Given the description of an element on the screen output the (x, y) to click on. 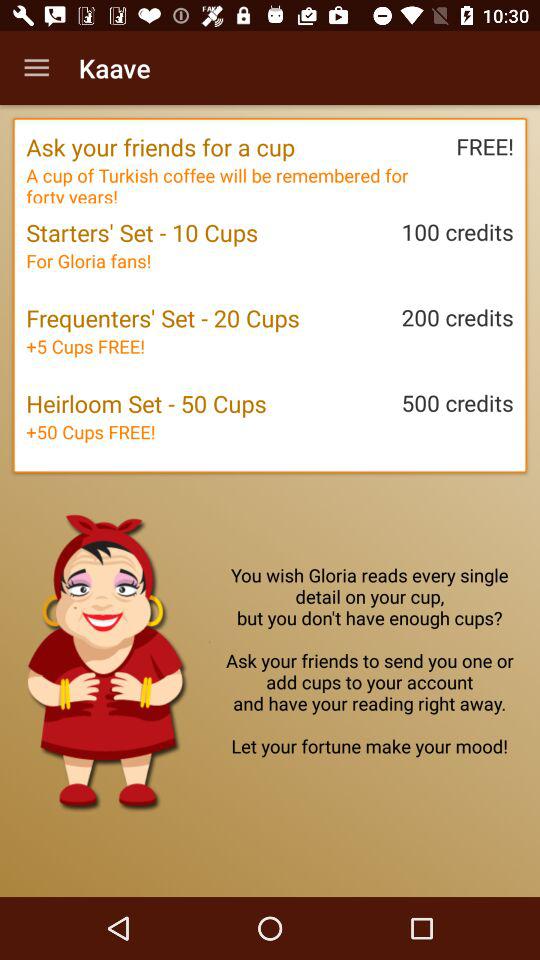
launch icon next to the kaave app (36, 68)
